Given the description of an element on the screen output the (x, y) to click on. 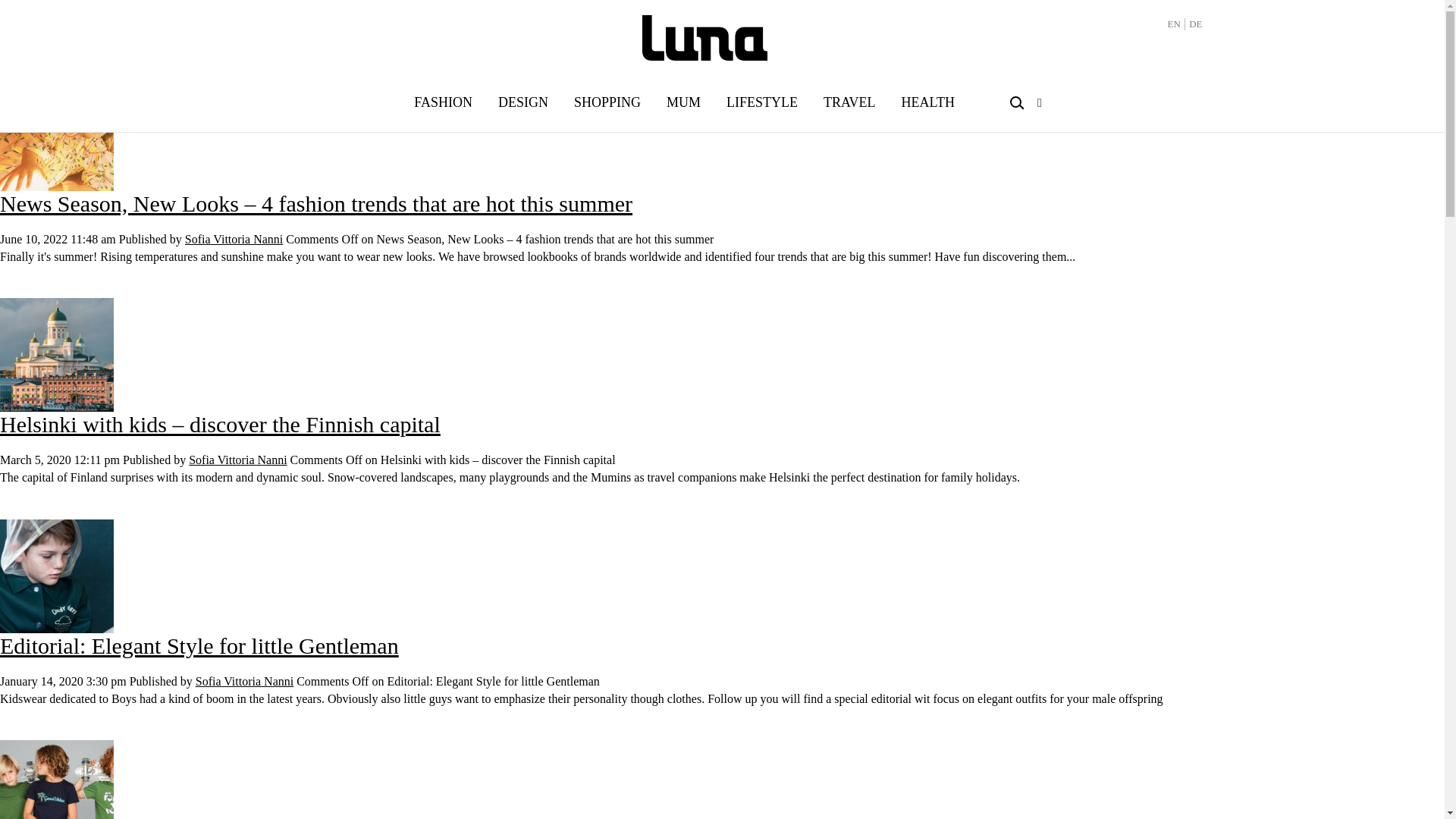
EN (1173, 23)
Posts by Sofia Vittoria Nanni (233, 238)
Posts by Sofia Vittoria Nanni (237, 459)
DE (1195, 23)
FASHION (442, 103)
Posts by Sofia Vittoria Nanni (244, 680)
Editorial: Elegant Style for little Gentleman (199, 645)
Editorial: Elegant Style for little Gentleman (56, 574)
DESIGN (522, 103)
